Given the description of an element on the screen output the (x, y) to click on. 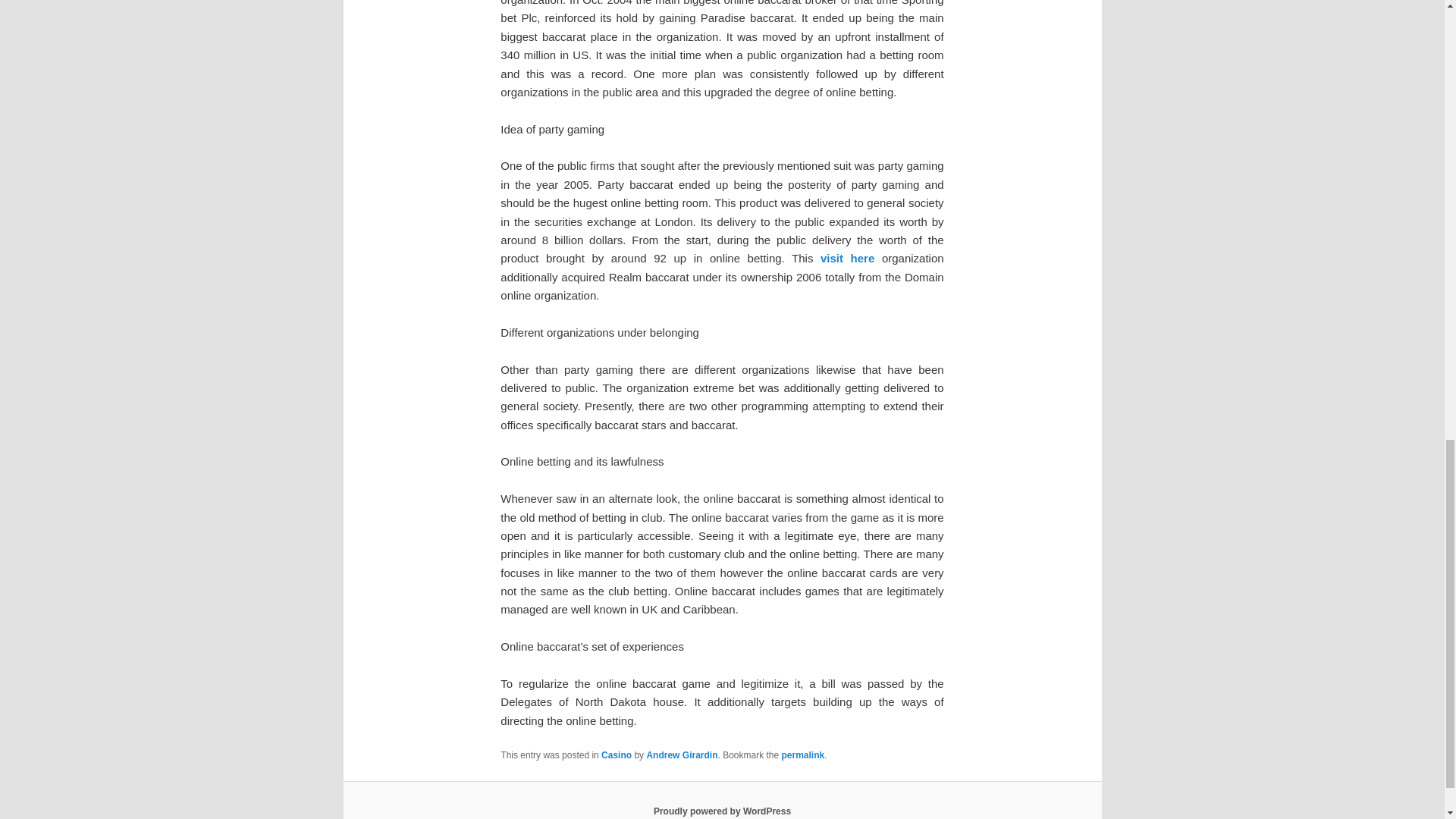
visit here (848, 257)
Proudly powered by WordPress (721, 810)
Casino (616, 755)
permalink (803, 755)
Semantic Personal Publishing Platform (721, 810)
Andrew Girardin (681, 755)
